Given the description of an element on the screen output the (x, y) to click on. 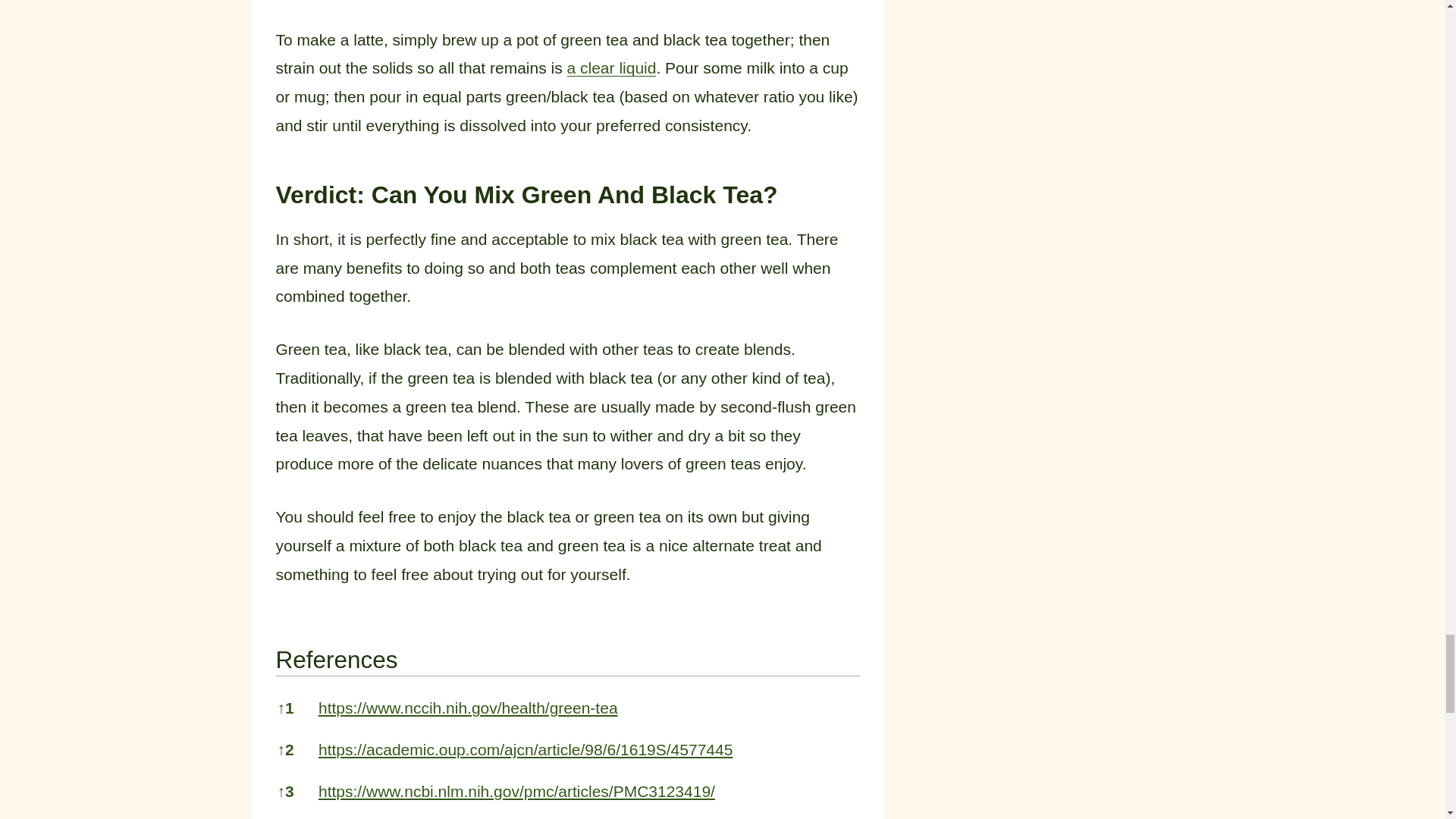
a clear liquid (611, 67)
